Given the description of an element on the screen output the (x, y) to click on. 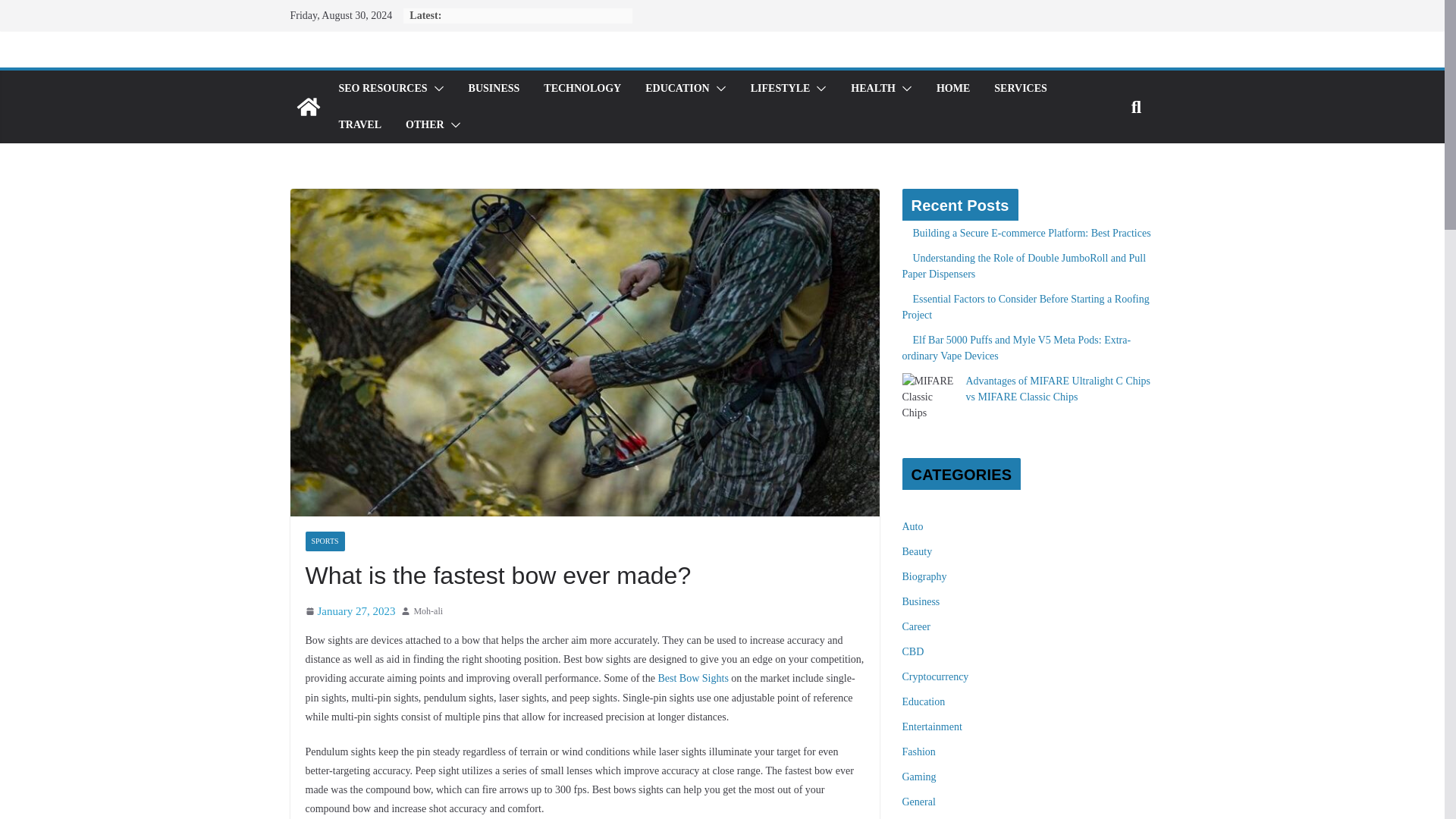
January 27, 2023 (349, 611)
SERVICES (1020, 88)
EDUCATION (677, 88)
Auto (912, 526)
HEALTH (872, 88)
Moh-ali (427, 611)
SEO RESOURCES (381, 88)
Blogpostusa (307, 106)
12:05 pm (349, 611)
Beauty (917, 551)
